Given the description of an element on the screen output the (x, y) to click on. 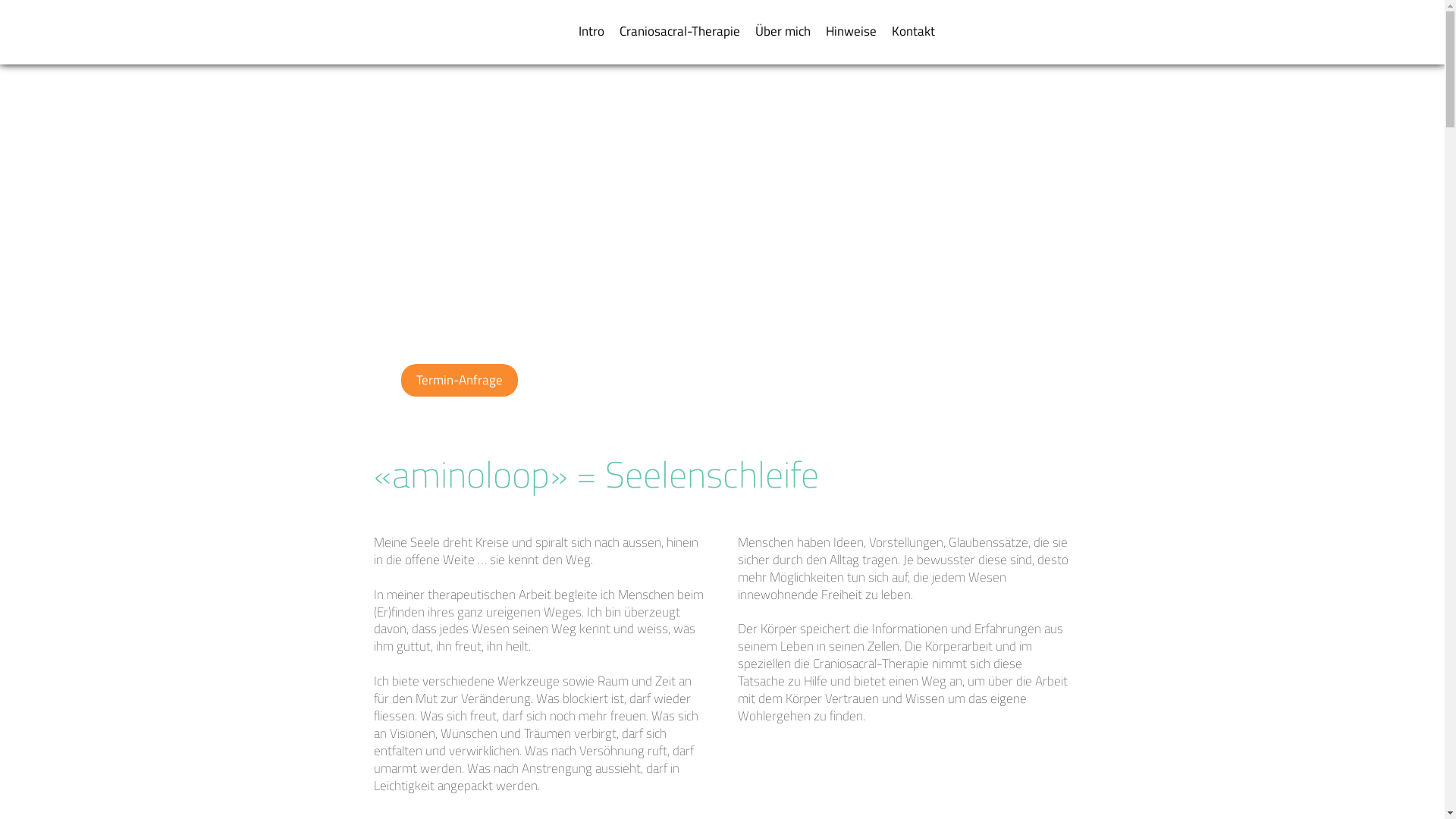
Hinweise Element type: text (850, 31)
Termin-Anfrage Element type: text (458, 380)
Intro Element type: text (590, 31)
Craniosacral-Therapie Element type: text (678, 31)
Kontakt Element type: text (913, 31)
